Given the description of an element on the screen output the (x, y) to click on. 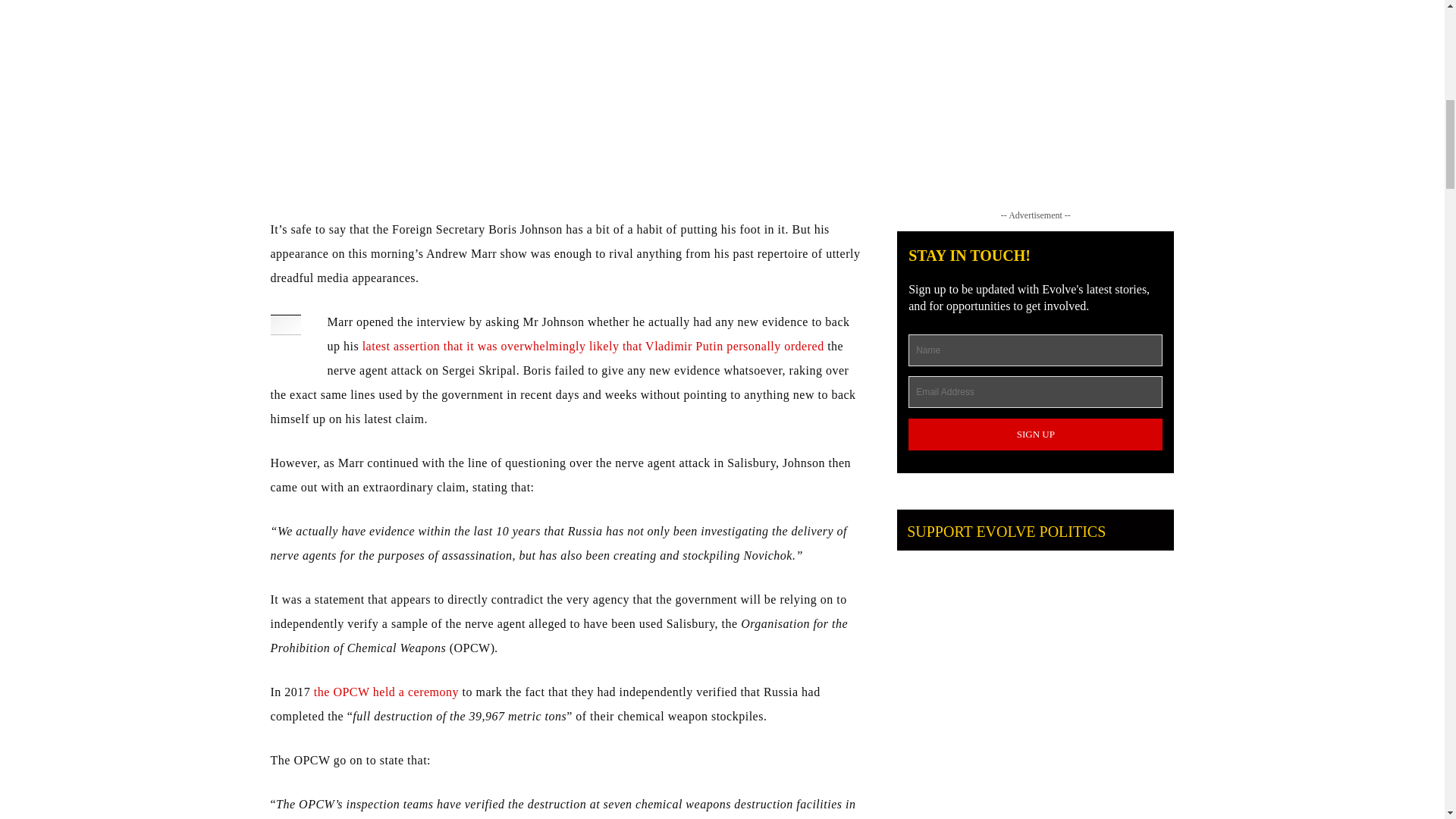
Sign Up (1034, 434)
